Given the description of an element on the screen output the (x, y) to click on. 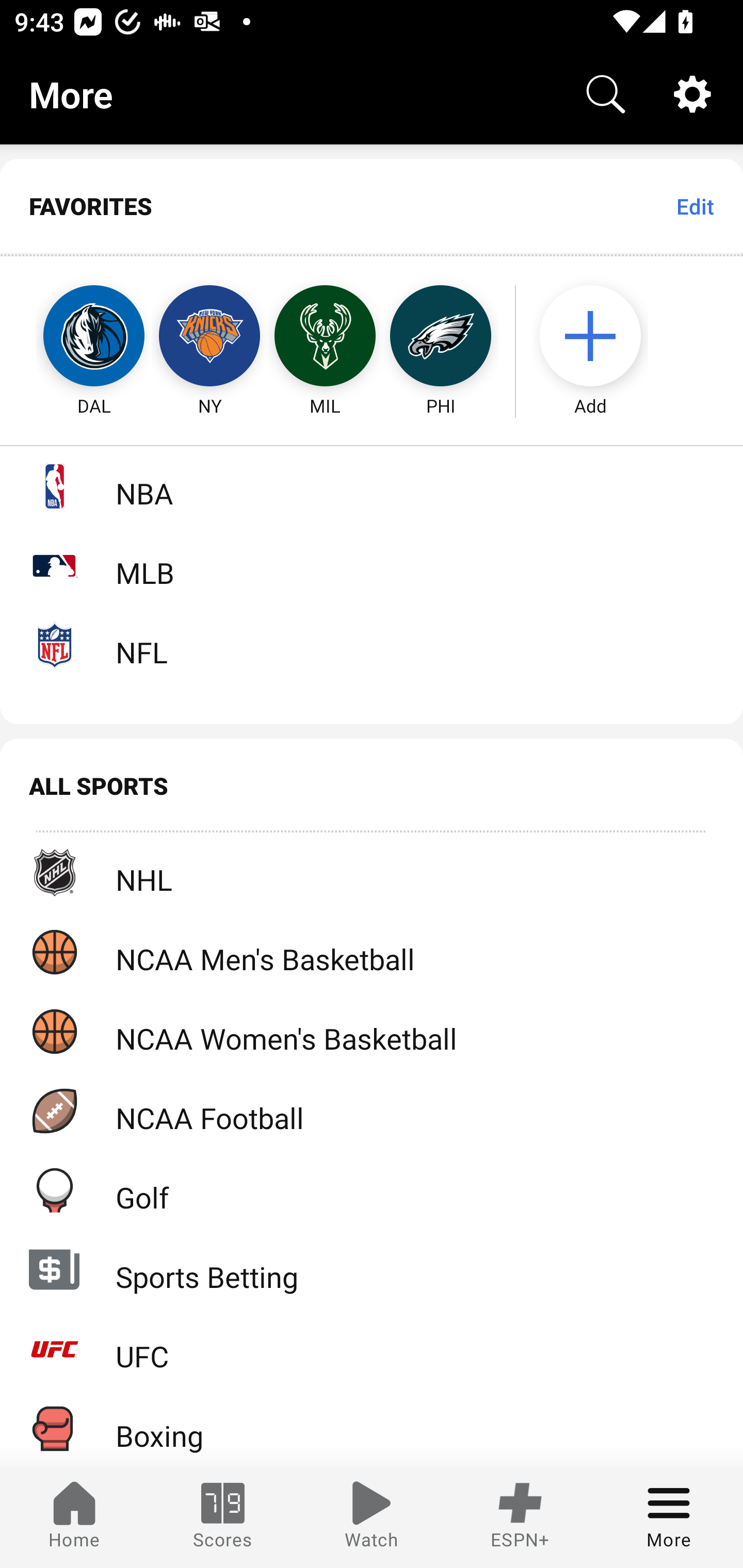
Search (605, 93)
Settings (692, 93)
Edit (695, 205)
DAL Dallas Mavericks (75, 336)
NY New York Knicks (209, 336)
MIL Milwaukee Bucks (324, 336)
PHI Philadelphia Eagles (440, 336)
 Add (599, 336)
NBA (371, 485)
MLB (371, 565)
NFL (371, 645)
NHL (371, 872)
NCAA Men's Basketball (371, 951)
NCAA Women's Basketball (371, 1030)
NCAA Football (371, 1110)
Golf (371, 1189)
Sports Betting (371, 1269)
UFC (371, 1349)
Boxing (371, 1428)
Home (74, 1517)
Scores (222, 1517)
Watch (371, 1517)
ESPN+ (519, 1517)
